Given the description of an element on the screen output the (x, y) to click on. 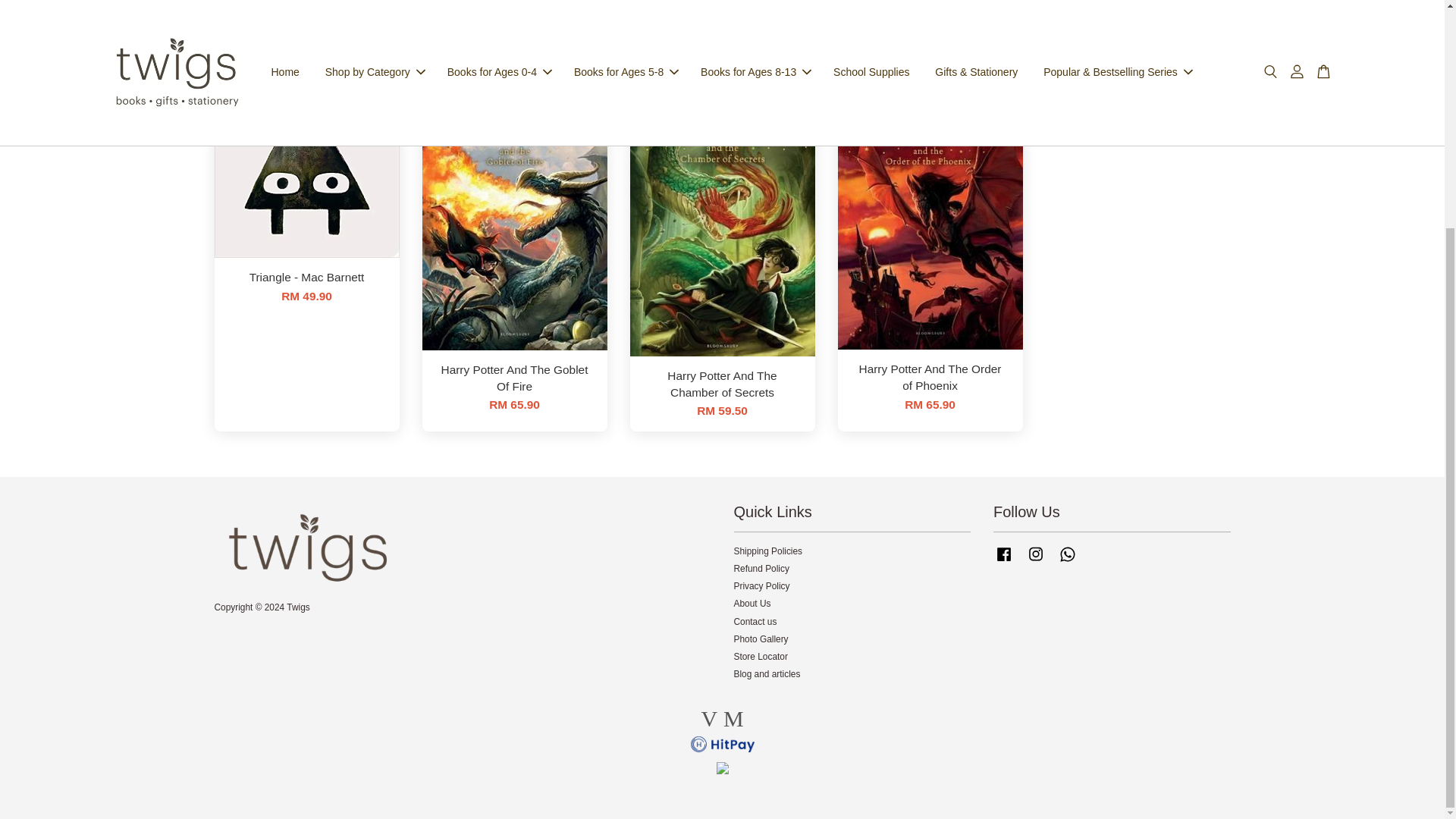
TWIGS.MY on Instagram (1035, 561)
TWIGS.MY on Facebook (1003, 561)
icon-facebook (1003, 554)
TWIGS.MY on Whatsapp (1067, 561)
icon-instagram (1035, 554)
icon-whatsapp (1067, 554)
